Given the description of an element on the screen output the (x, y) to click on. 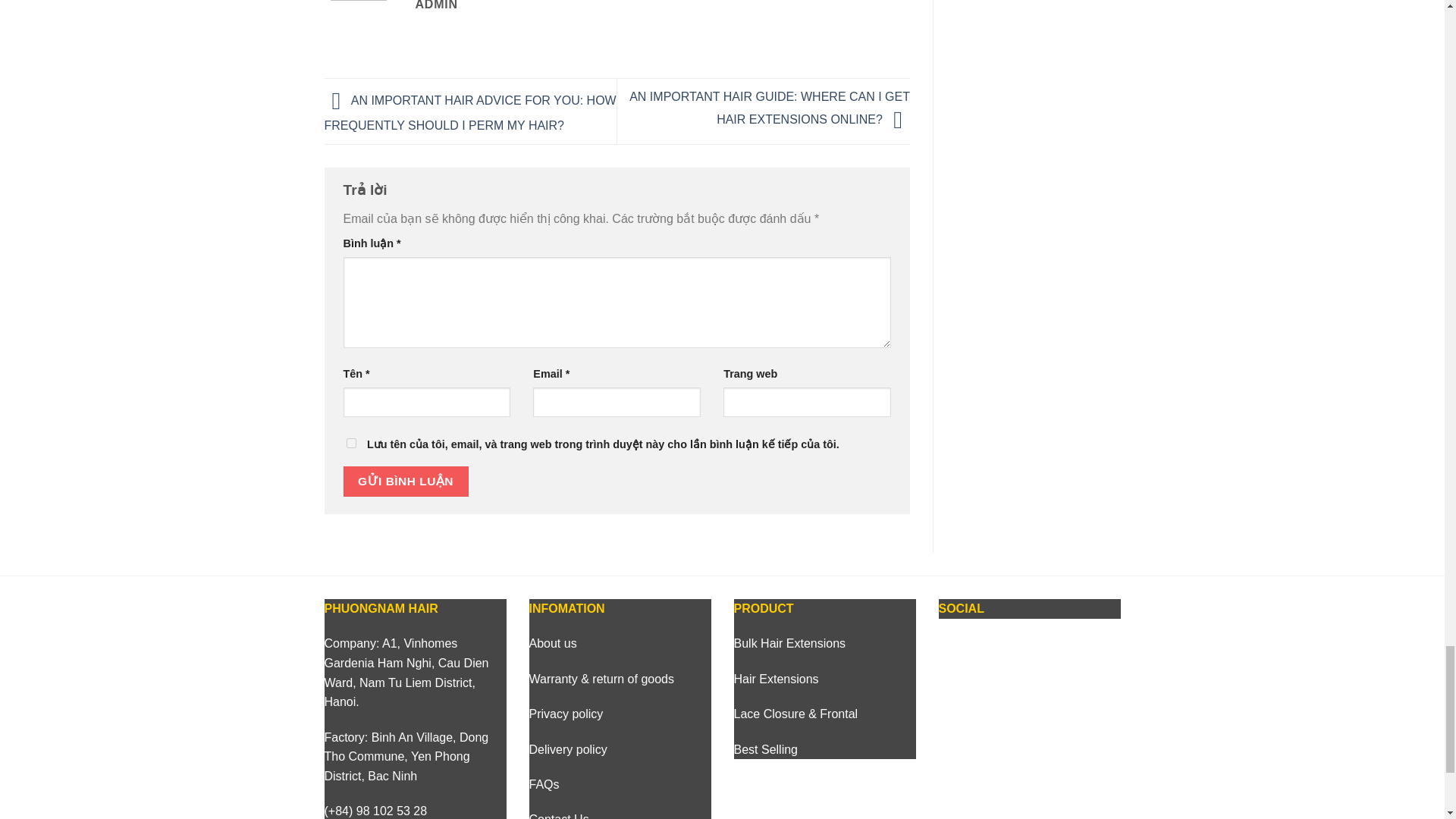
yes (350, 442)
